Given the description of an element on the screen output the (x, y) to click on. 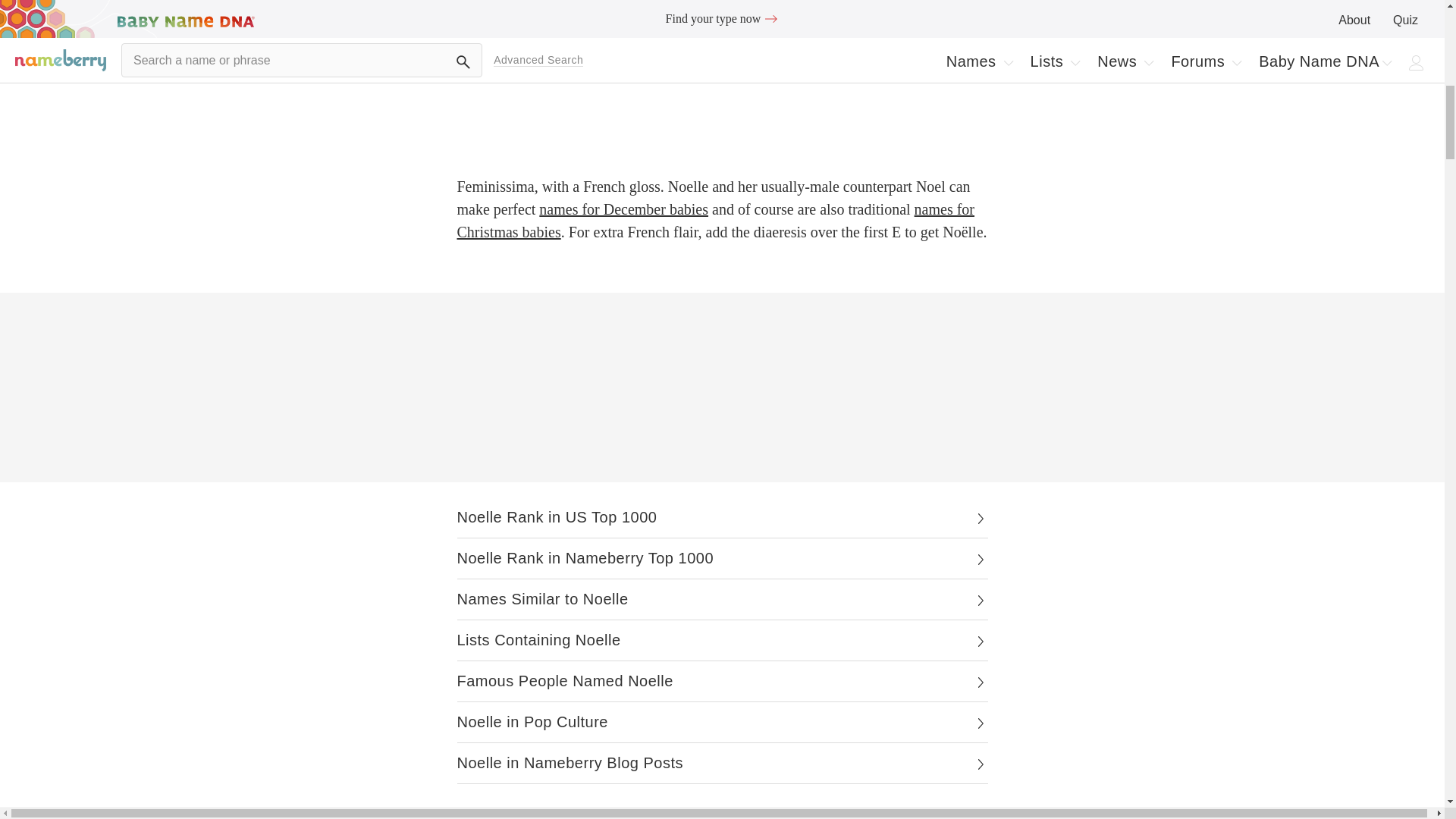
Chevron - Right (979, 723)
Chevron - Right (979, 641)
Chevron - Right (979, 559)
Chevron - Right (979, 682)
Chevron - Right (979, 518)
Chevron - Right (979, 600)
